Given the description of an element on the screen output the (x, y) to click on. 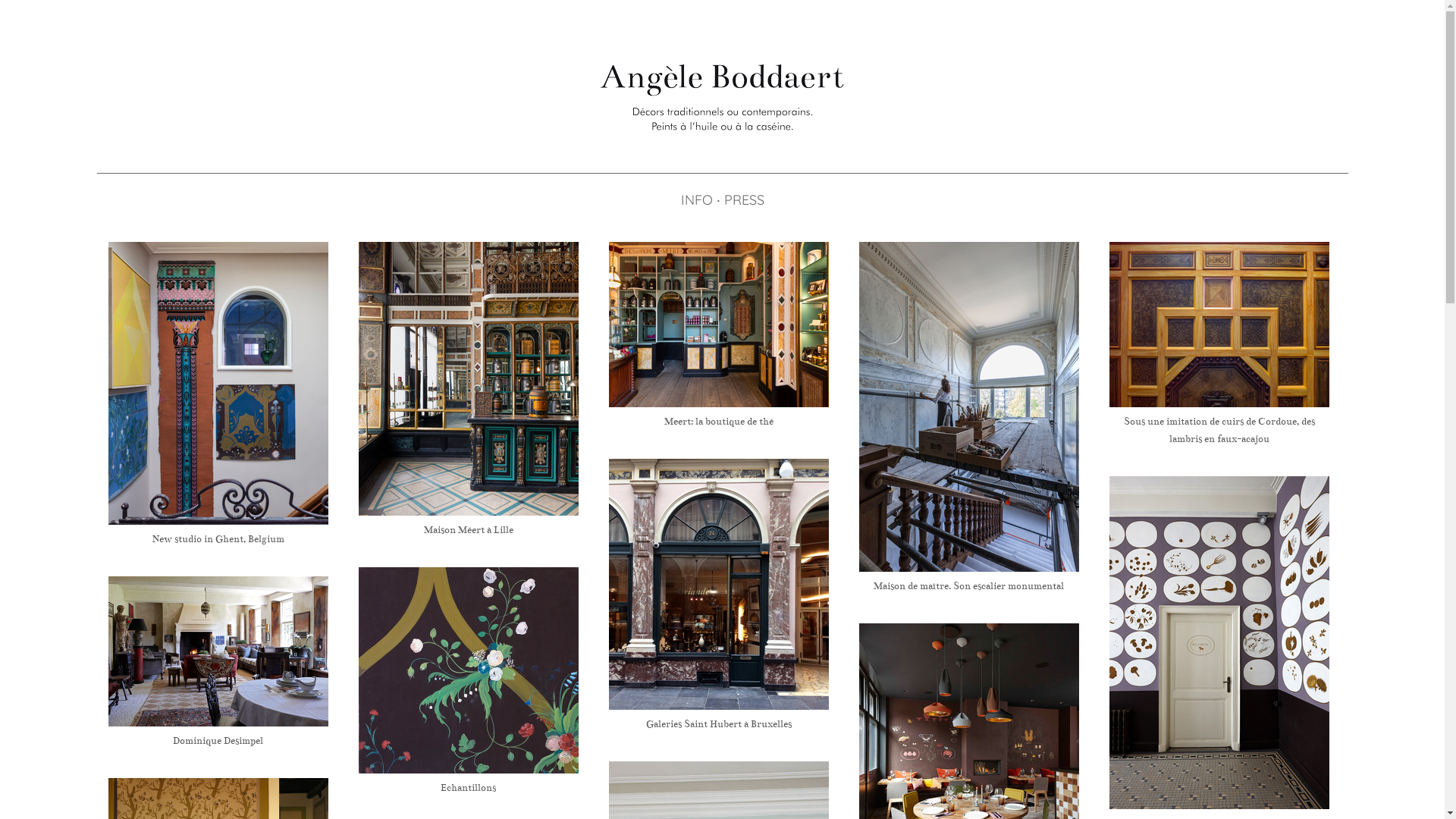
INFO Element type: text (695, 200)
New studio in Ghent, Belgium Element type: hover (217, 382)
PRESS Element type: text (744, 200)
Dominique Desimpel Element type: hover (217, 651)
Echantillons Element type: hover (467, 670)
New studio in Ghent, Belgium Element type: text (217, 539)
Dominique Desimpel Element type: text (217, 740)
Restaurant Patrick Devos Element type: hover (1218, 642)
Echantillons Element type: text (467, 787)
